Given the description of an element on the screen output the (x, y) to click on. 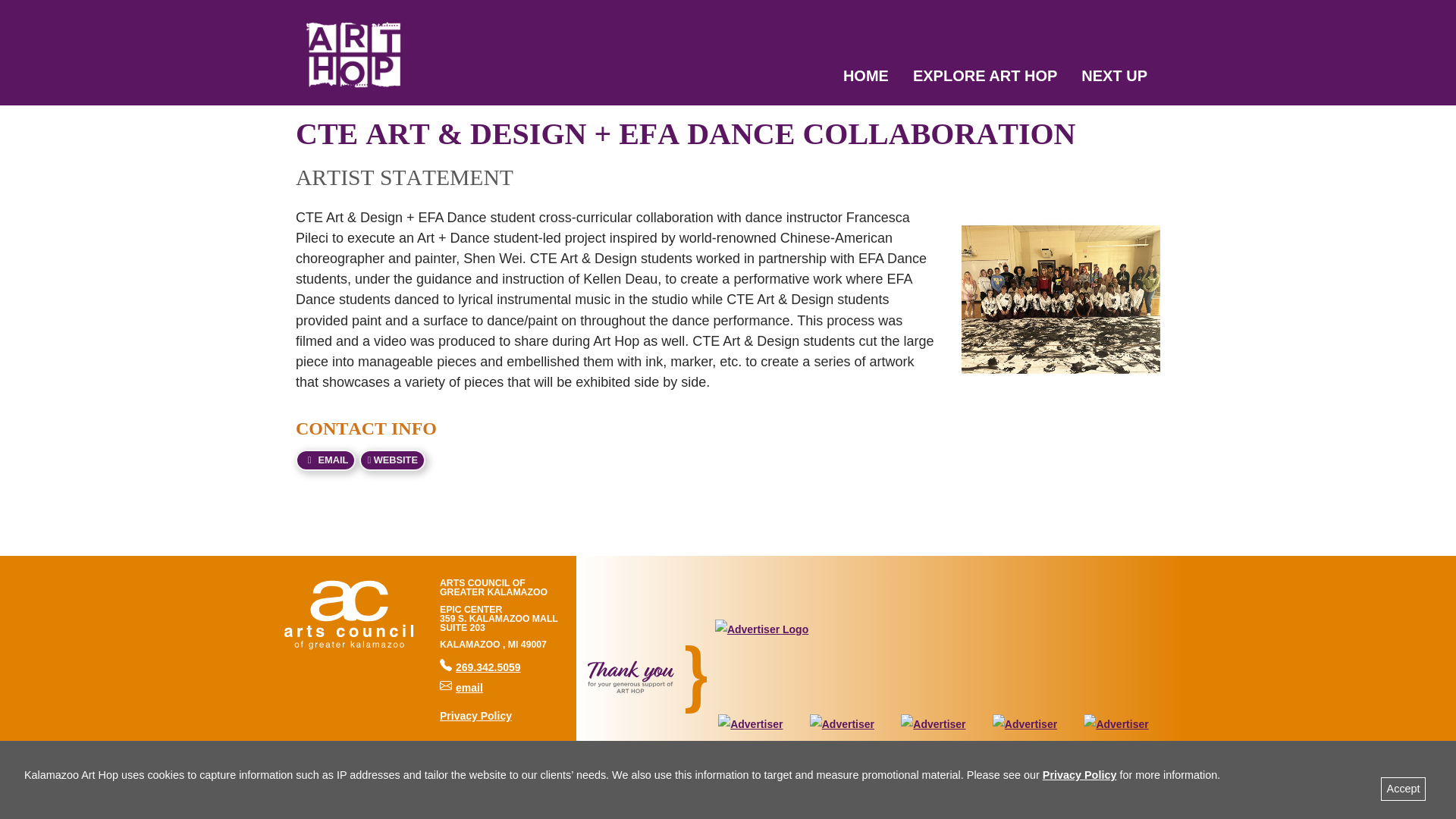
HOME (480, 666)
Privacy Policy (866, 80)
EXPLORE ART HOP (1079, 775)
EMAIL (984, 80)
NEXT UP (325, 460)
email (1113, 80)
Accept (461, 687)
WEBSITE (1402, 788)
Privacy Policy (392, 460)
